Given the description of an element on the screen output the (x, y) to click on. 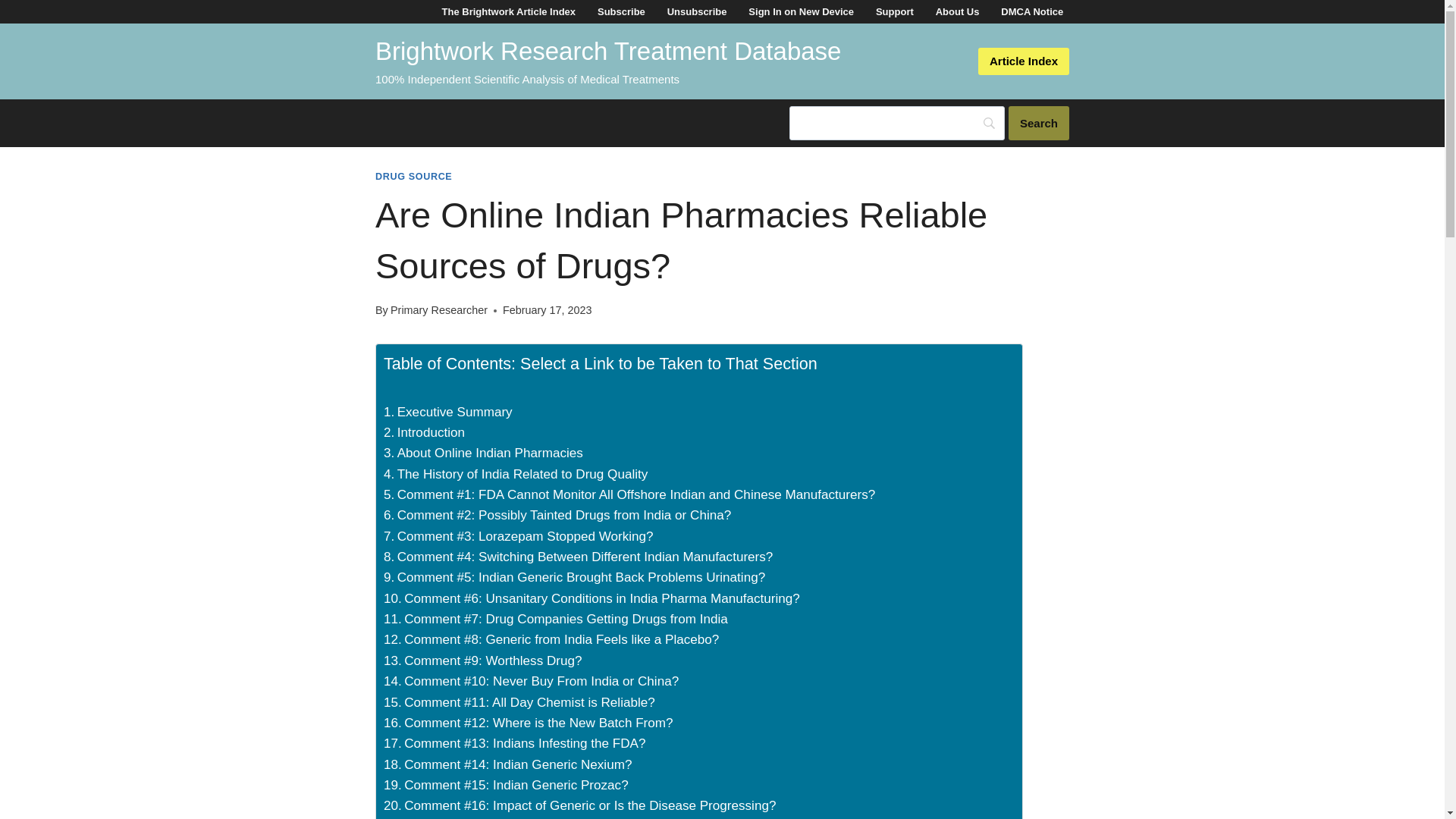
Executive Summary (448, 412)
The History of India Related to Drug Quality (515, 474)
Unsubscribe (696, 11)
Introduction (424, 432)
Search (1038, 123)
Primary Researcher (438, 309)
About Us (957, 11)
DRUG SOURCE (413, 176)
About Online Indian Pharmacies (483, 453)
Search (1038, 123)
Support (893, 11)
Article Index (1023, 61)
The History of India Related to Drug Quality (515, 474)
Executive Summary (448, 412)
DMCA Notice (1031, 11)
